Given the description of an element on the screen output the (x, y) to click on. 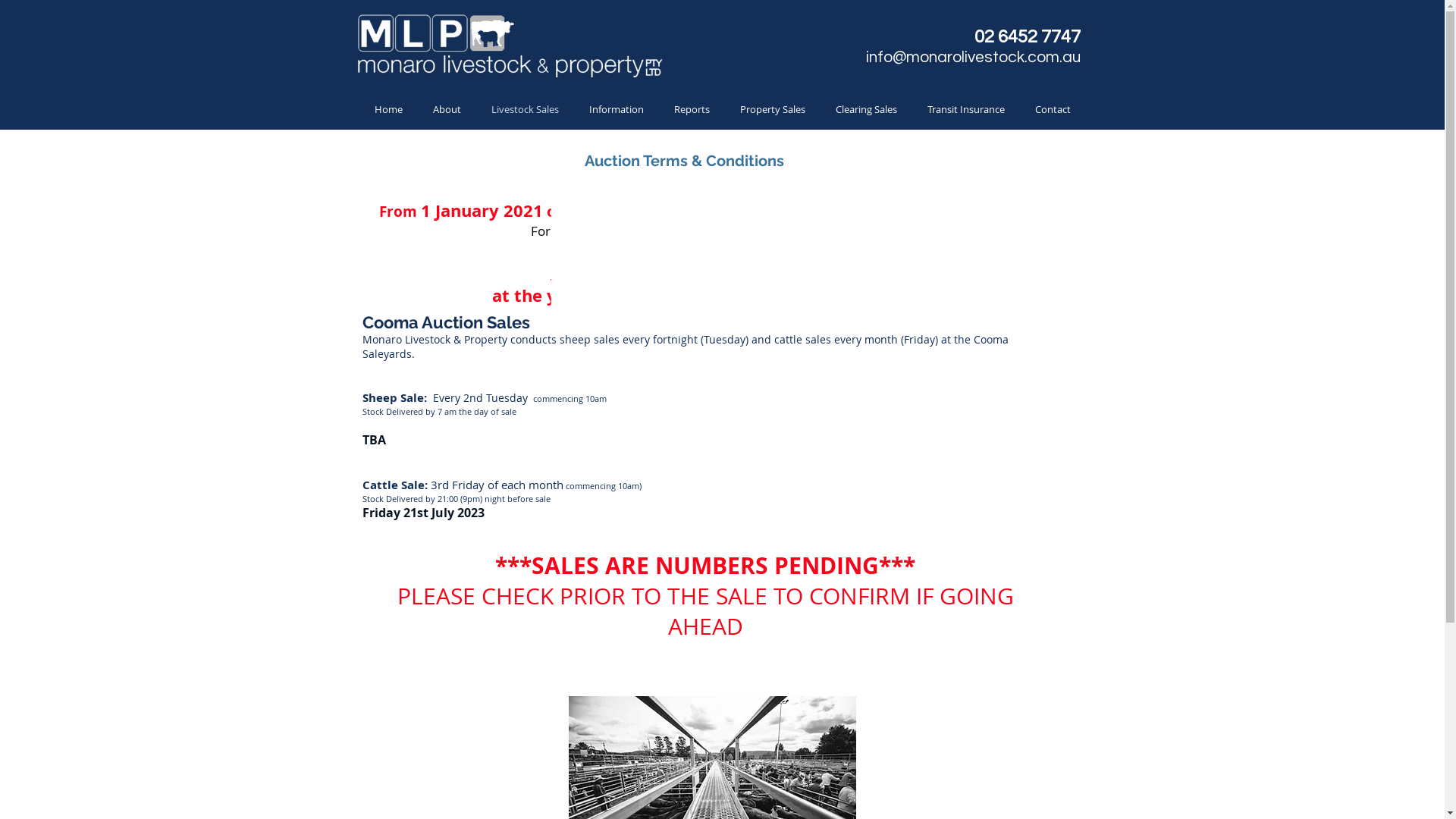
Property Sales Element type: text (772, 109)
Livestock Sales Element type: text (525, 109)
Auction Terms & Conditions Element type: text (683, 160)
info@monarolivestock.com.au Element type: text (973, 57)
About Element type: text (446, 109)
Contact Element type: text (1052, 109)
Information Element type: text (615, 109)
Reports Element type: text (691, 109)
Transit Insurance Element type: text (965, 109)
Home Element type: text (388, 109)
Clearing Sales Element type: text (866, 109)
www.integritysystems.com.au/nvd Element type: text (797, 230)
